Given the description of an element on the screen output the (x, y) to click on. 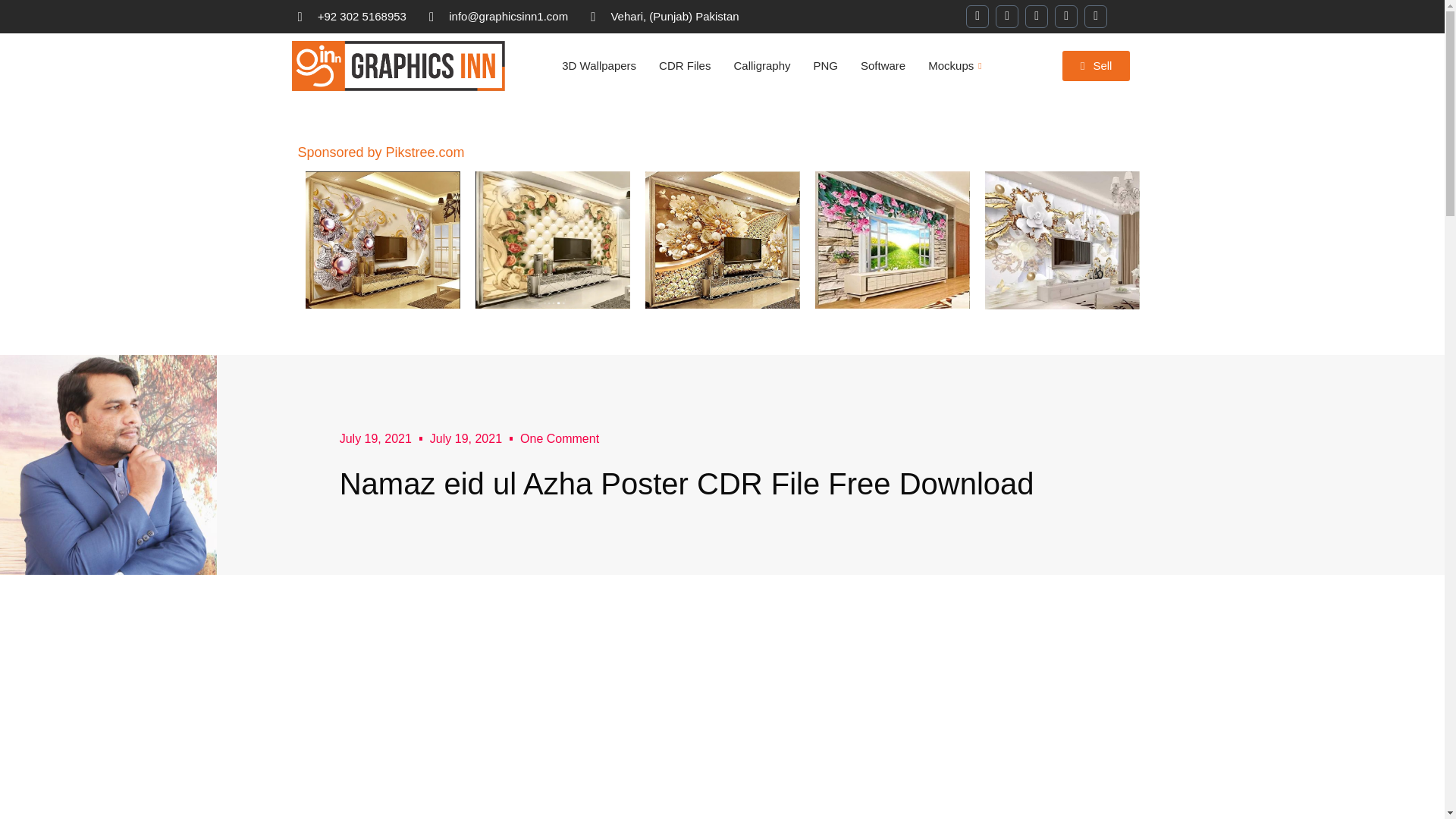
CDR Files (684, 65)
Sell (1096, 65)
One Comment (558, 438)
July 19, 2021 (375, 438)
Mockups (956, 65)
Calligraphy (762, 65)
Software (882, 65)
Sponsored by Pikstree.com (380, 151)
3D Wallpapers (598, 65)
July 19, 2021 (465, 438)
